Given the description of an element on the screen output the (x, y) to click on. 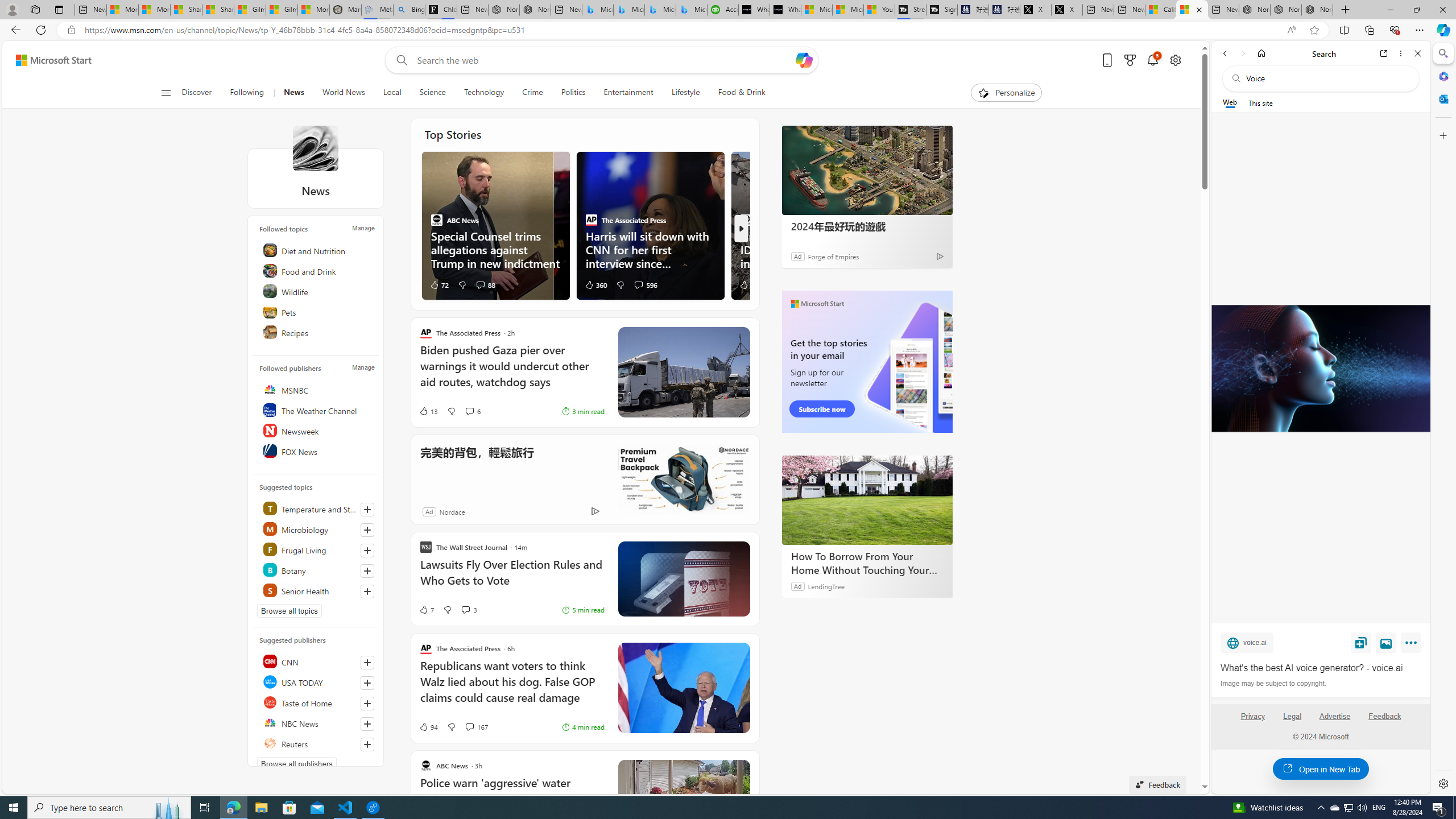
Open settings (1175, 60)
Lawsuits Fly Over Election Rules and Who Gets to Vote (511, 578)
Microsoft Bing Travel - Shangri-La Hotel Bangkok (691, 9)
View image (1385, 642)
Lifestyle (685, 92)
Microsoft rewards (1129, 60)
News (293, 92)
Nordace - Best Sellers (1254, 9)
Follow this topic (367, 591)
Local (392, 92)
